Given the description of an element on the screen output the (x, y) to click on. 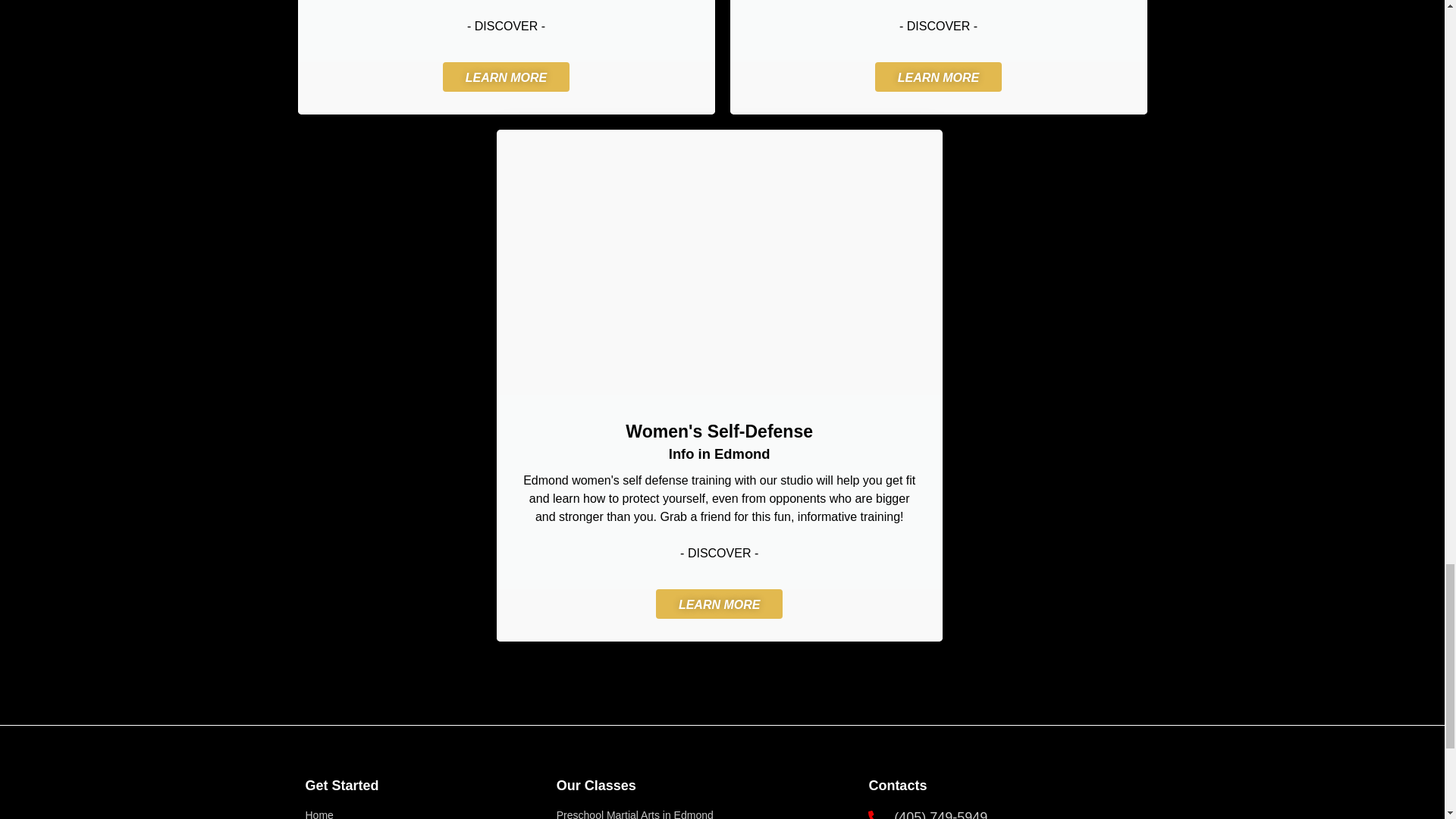
Phone (1001, 813)
LEARN MORE (506, 77)
Preschool Martial Arts in Edmond (704, 813)
LEARN MORE (939, 77)
Home (422, 813)
LEARN MORE (719, 603)
